Given the description of an element on the screen output the (x, y) to click on. 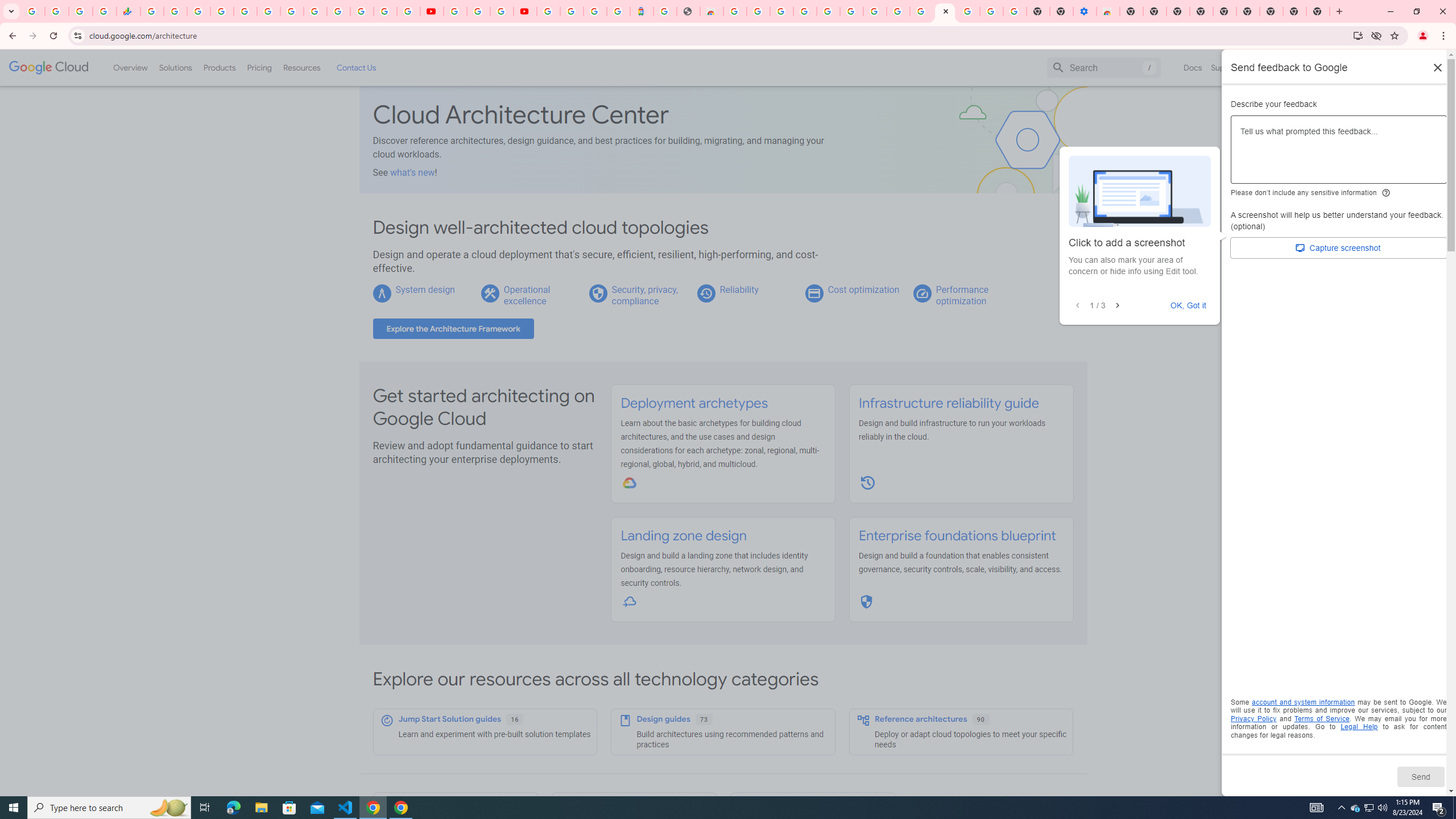
Atour Hotel - Google hotels (641, 11)
YouTube (314, 11)
Create your Google Account (501, 11)
Create your Google Account (897, 11)
Settings - Accessibility (1085, 11)
Sign in - Google Accounts (547, 11)
Previous (1077, 305)
